Given the description of an element on the screen output the (x, y) to click on. 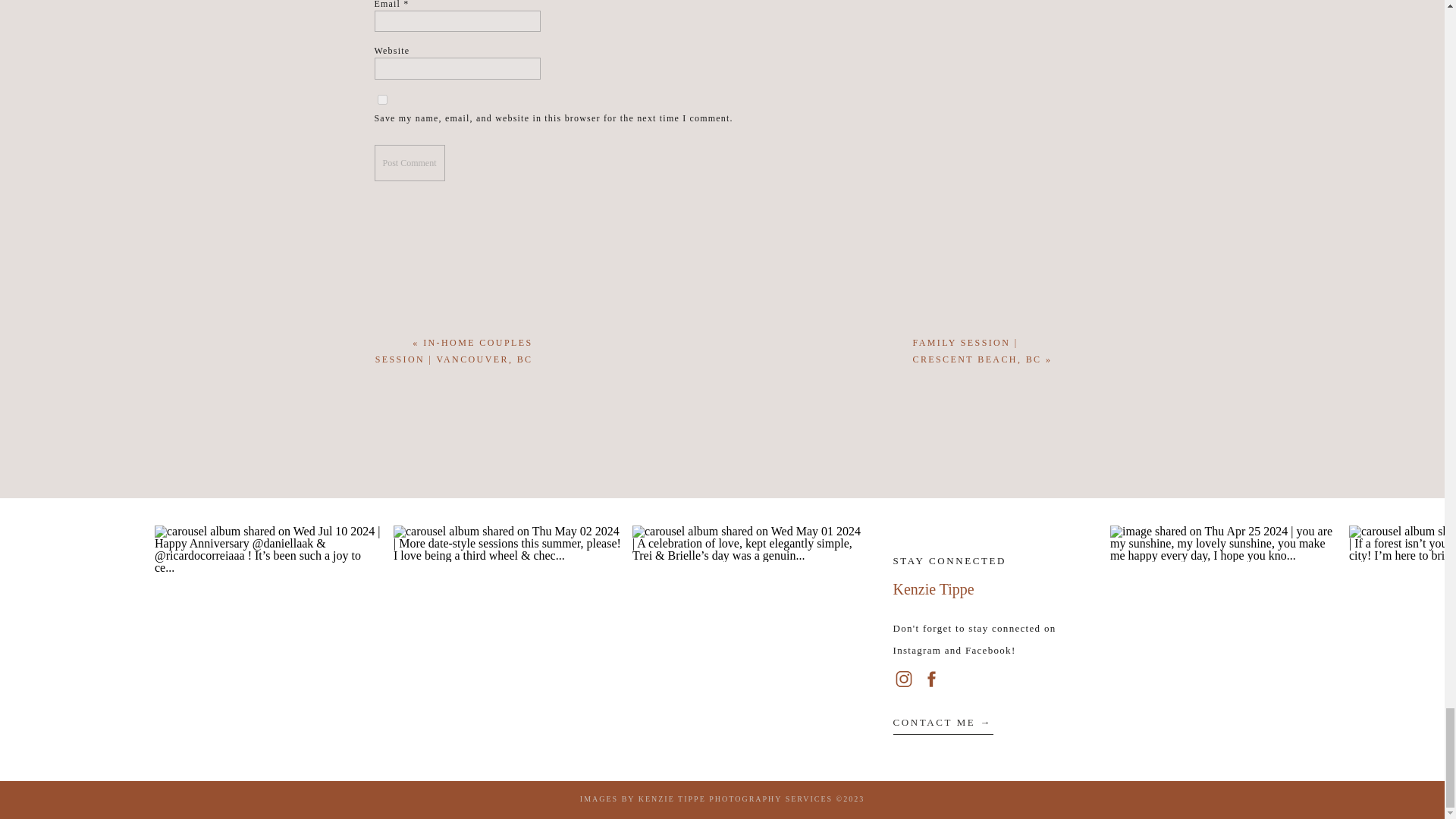
Post Comment (409, 162)
Post Comment (409, 162)
yes (382, 99)
